Given the description of an element on the screen output the (x, y) to click on. 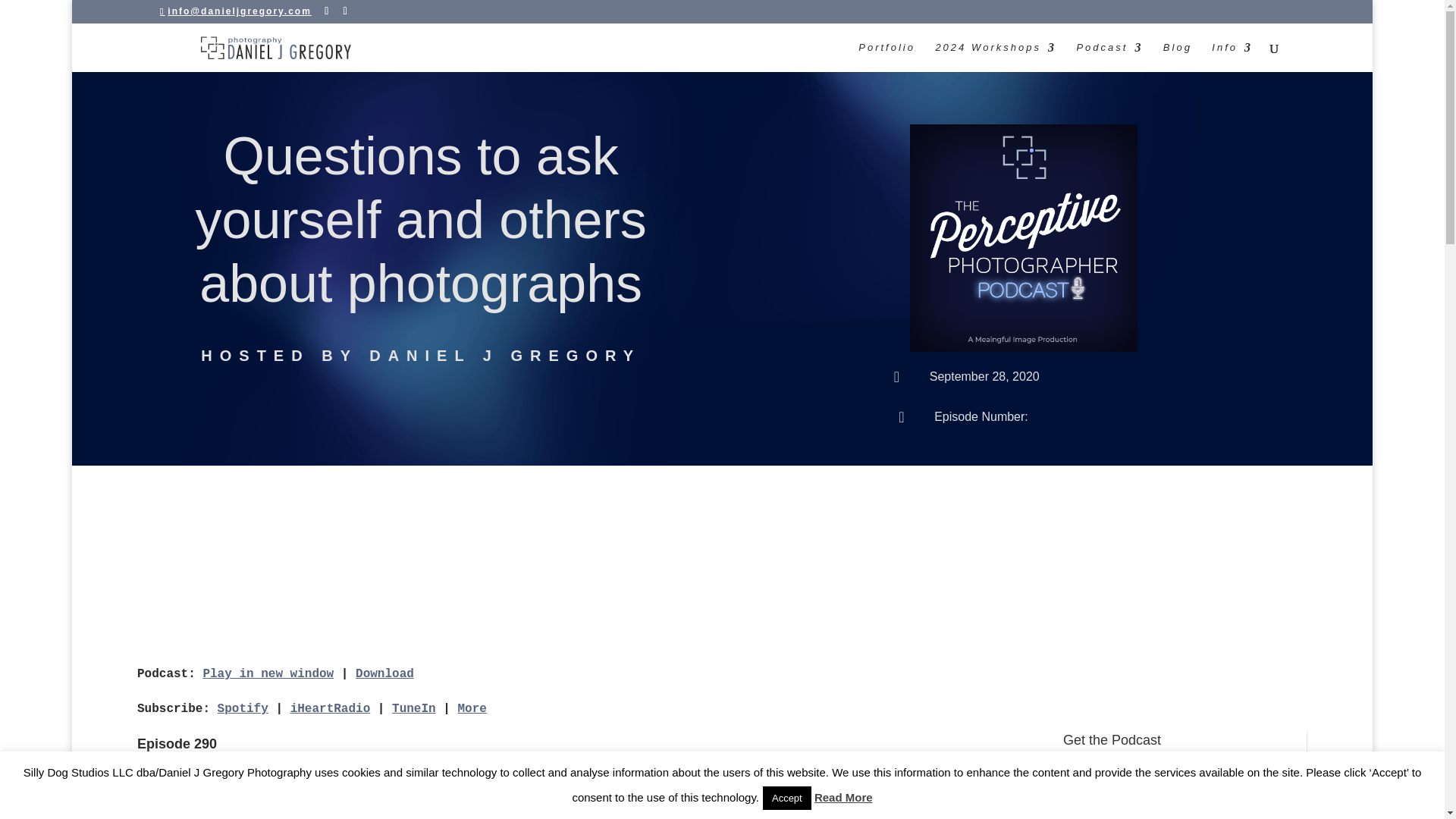
Play in new window (267, 673)
2024 Workshops (995, 57)
Podcast (1108, 57)
Portfolio (887, 57)
Subscribe on Spotify (241, 708)
Download (384, 673)
More (471, 708)
Info (1231, 57)
Blog (1177, 57)
Subscribe on Apple Podcasts (1173, 772)
perceptivephotographer23update (1023, 238)
Subscribe on iHeartRadio (330, 708)
Subscribe on Android (1173, 809)
Subscribe on TuneIn (413, 708)
